Given the description of an element on the screen output the (x, y) to click on. 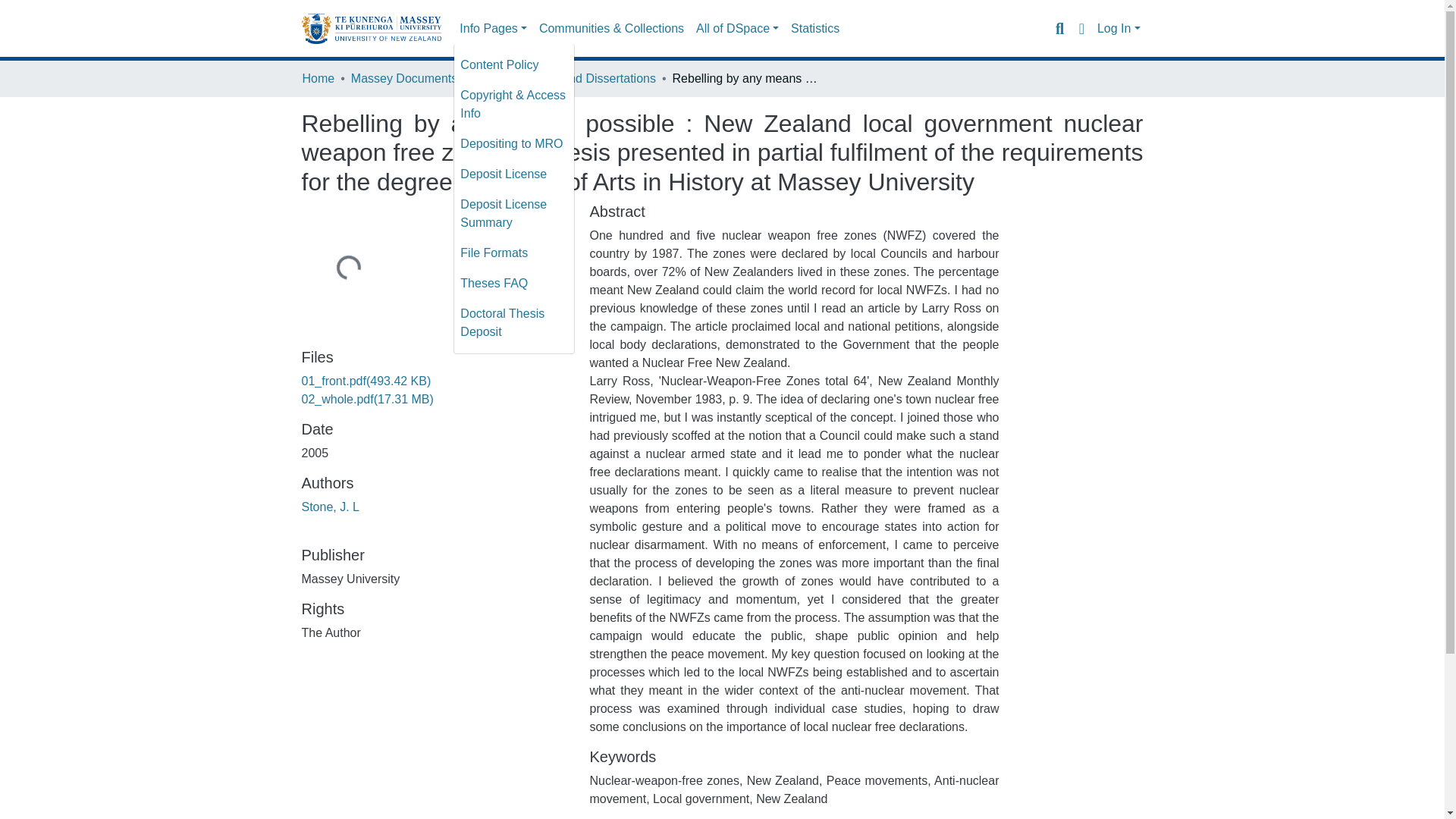
Doctoral Thesis Deposit (513, 322)
Log In (1118, 28)
All of DSpace (737, 28)
Deposit License (513, 173)
File Formats (513, 253)
Info Pages (492, 28)
Content Policy (513, 64)
Statistics (814, 28)
Massey Documents by Type (426, 78)
Theses and Dissertations (587, 78)
